Given the description of an element on the screen output the (x, y) to click on. 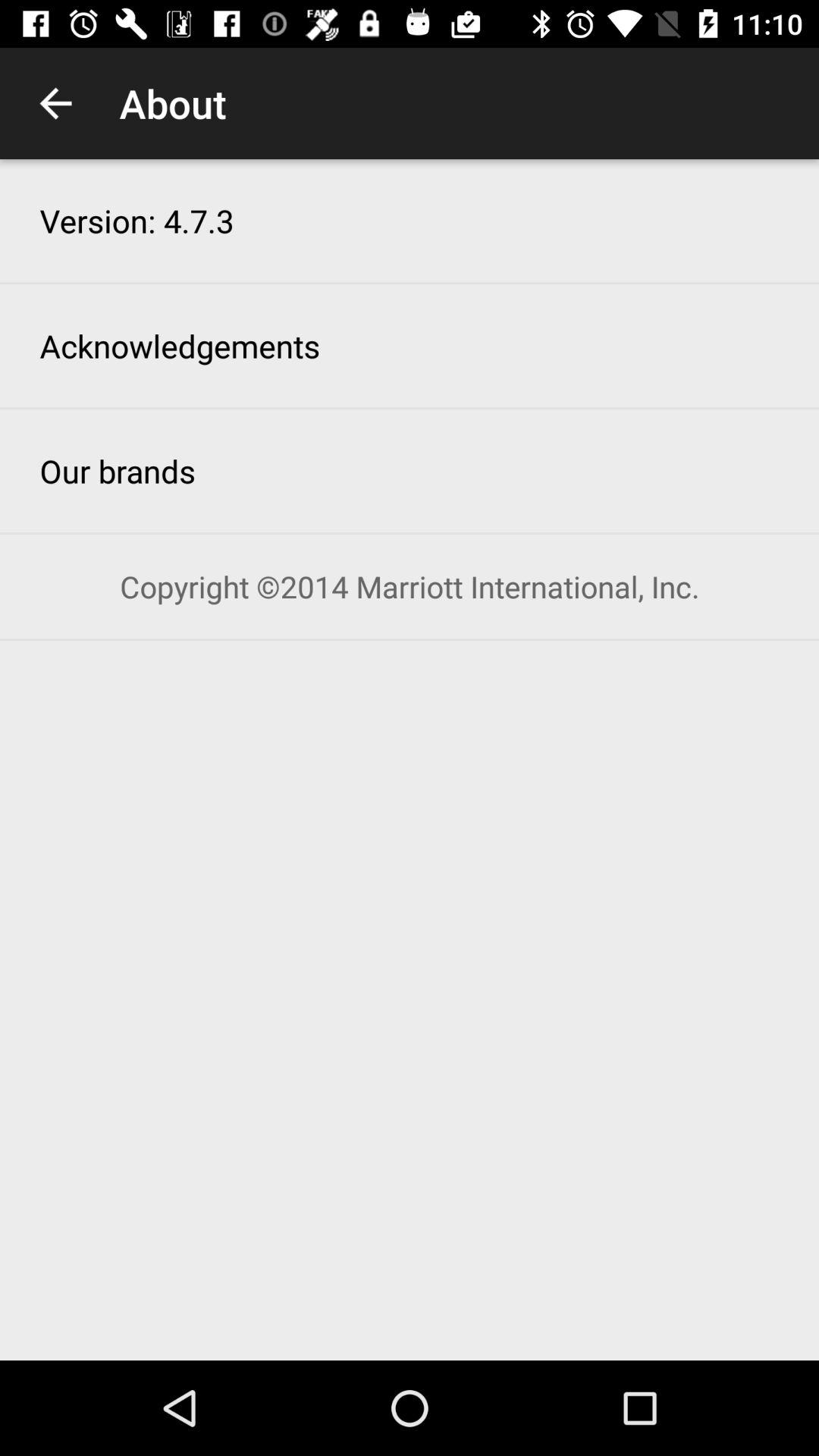
choose the item below the our brands icon (409, 586)
